Given the description of an element on the screen output the (x, y) to click on. 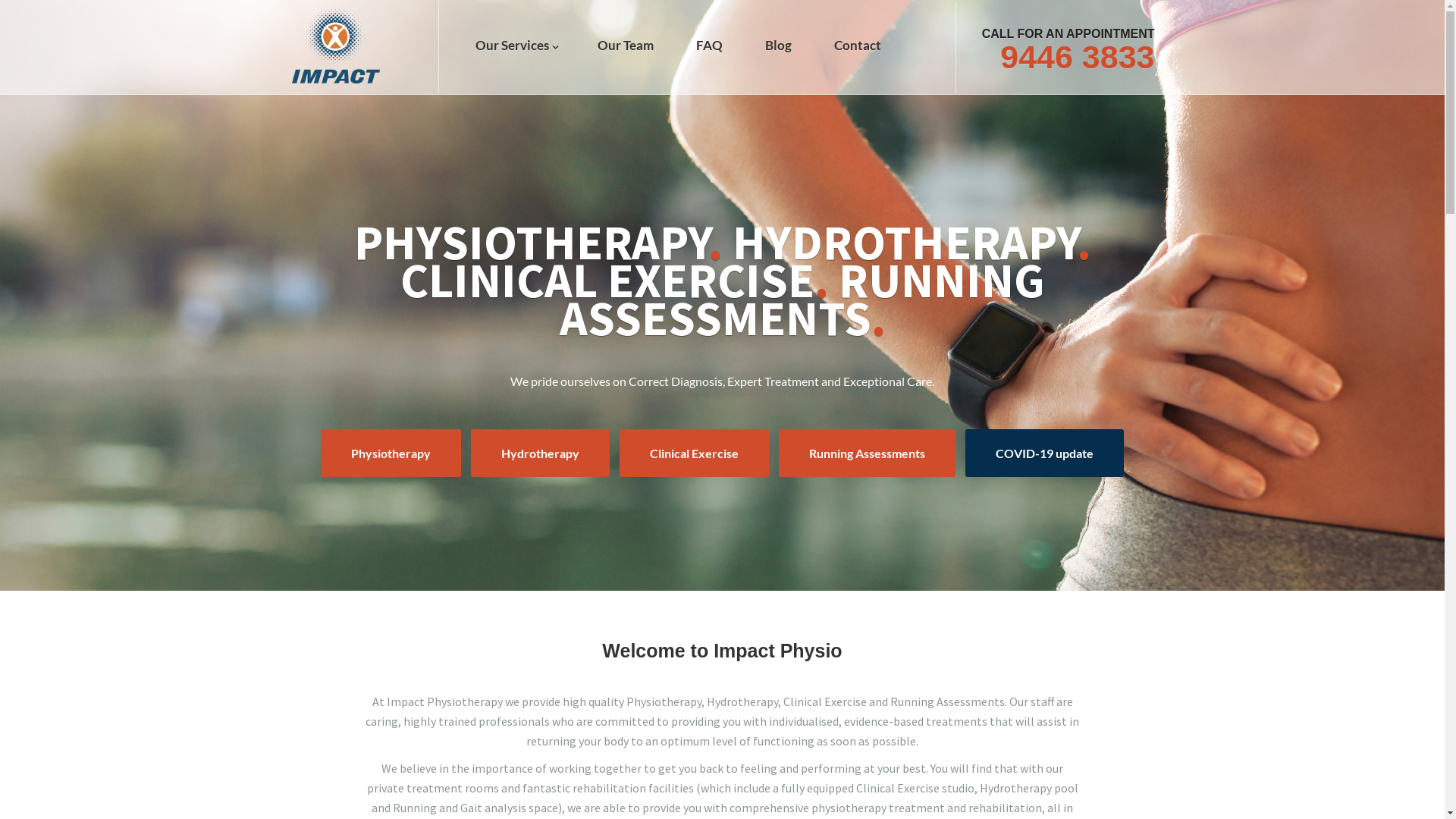
COVID-19 update Element type: text (1044, 452)
Clinical Exercise Element type: text (693, 452)
Blog Element type: text (777, 44)
Our Services Element type: text (514, 45)
FAQ Element type: text (709, 44)
Hydrotherapy Element type: text (539, 452)
9446 3833 Element type: text (1077, 56)
Our Team Element type: text (625, 44)
Impact Physiotherapy Element type: hover (335, 45)
Running Assessments Element type: text (866, 452)
Contact Element type: text (857, 44)
Physiotherapy Element type: text (390, 452)
